Given the description of an element on the screen output the (x, y) to click on. 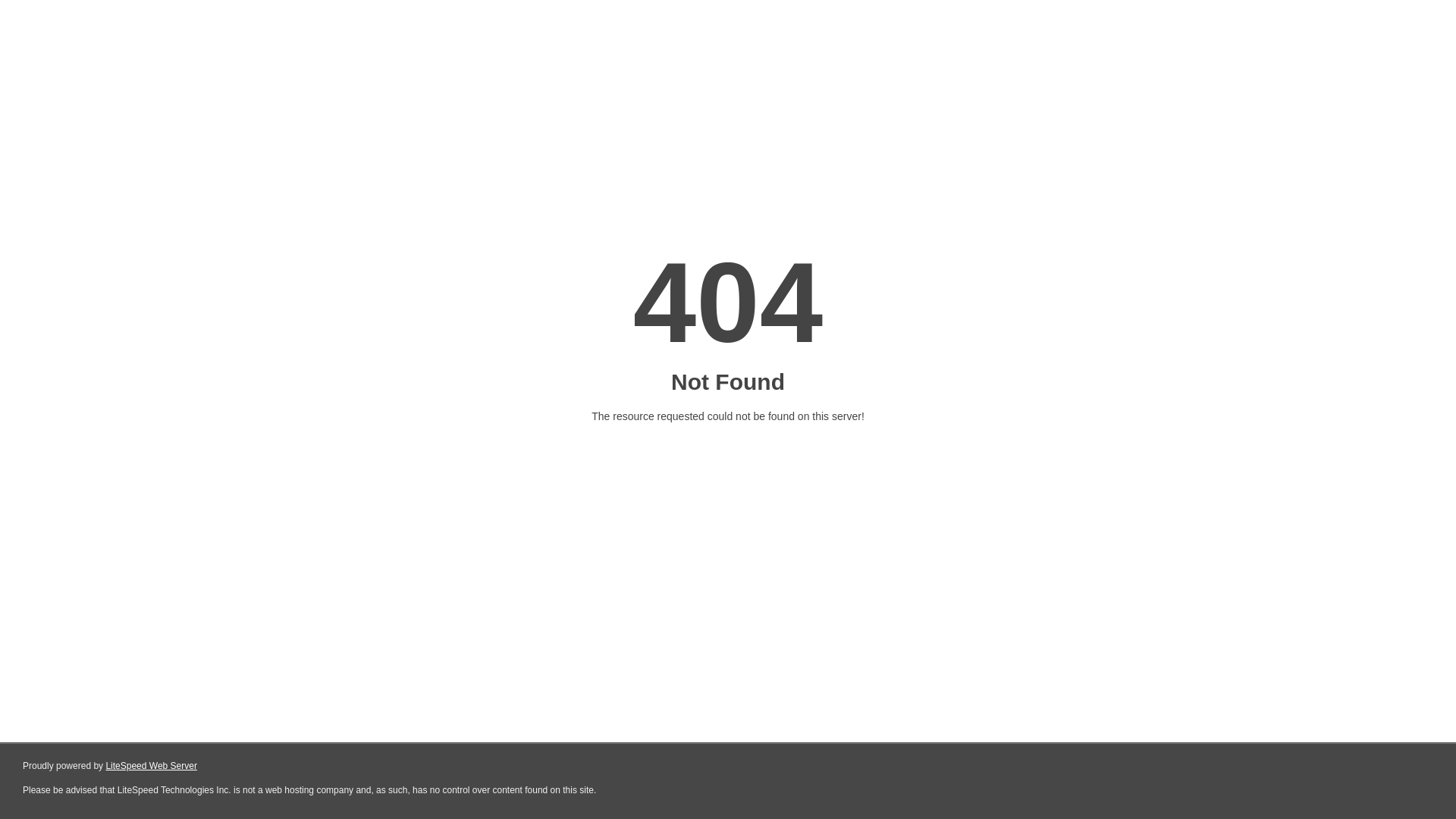
LiteSpeed Web Server Element type: text (151, 765)
